Given the description of an element on the screen output the (x, y) to click on. 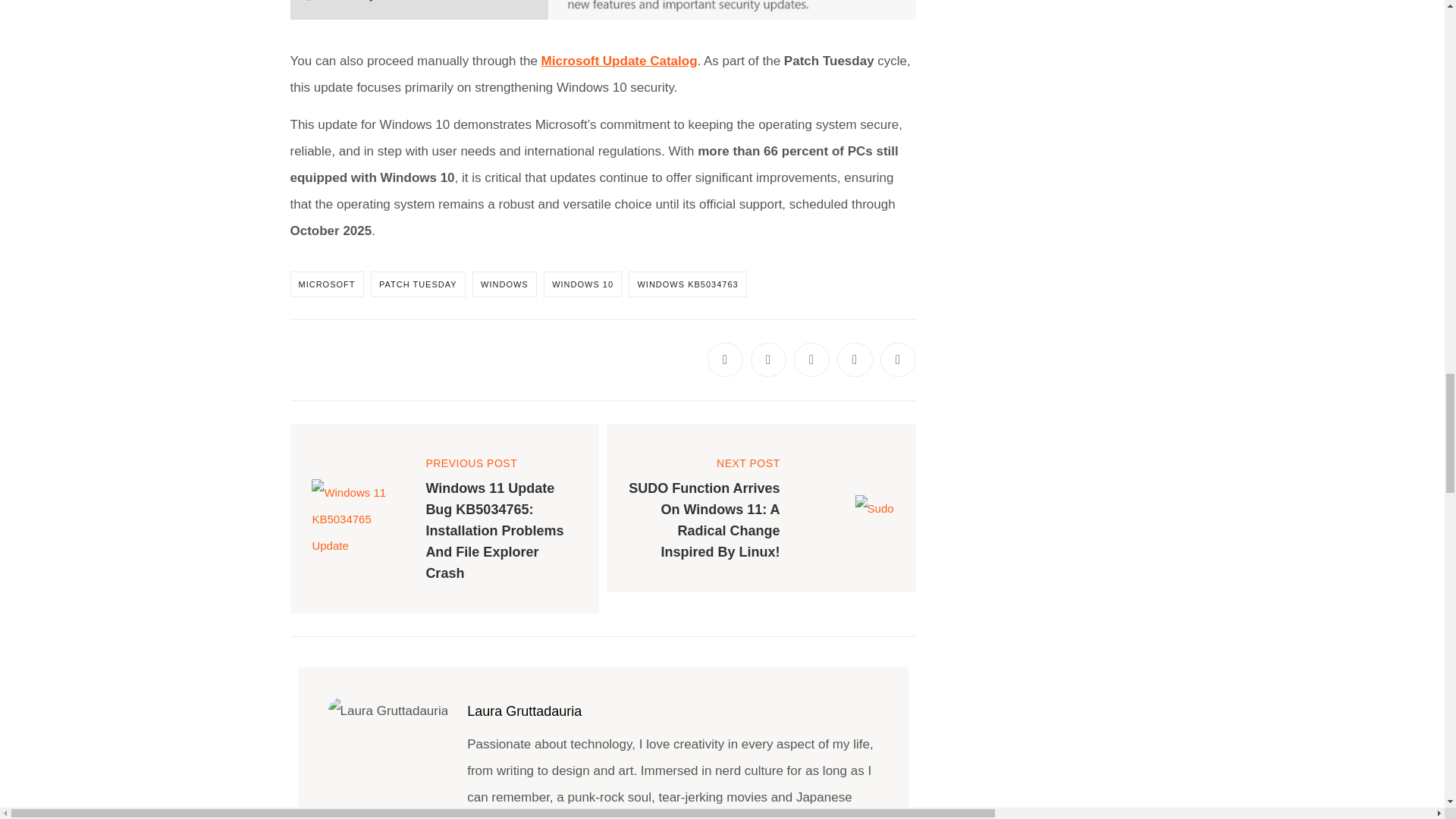
PATCH TUESDAY (418, 284)
Microsoft Update Catalog (619, 60)
WINDOWS 10 (582, 284)
WINDOWS (504, 284)
WINDOWS KB5034763 (686, 284)
upgrade to Windows 10 KB5034763 (602, 9)
MICROSOFT (325, 284)
